Given the description of an element on the screen output the (x, y) to click on. 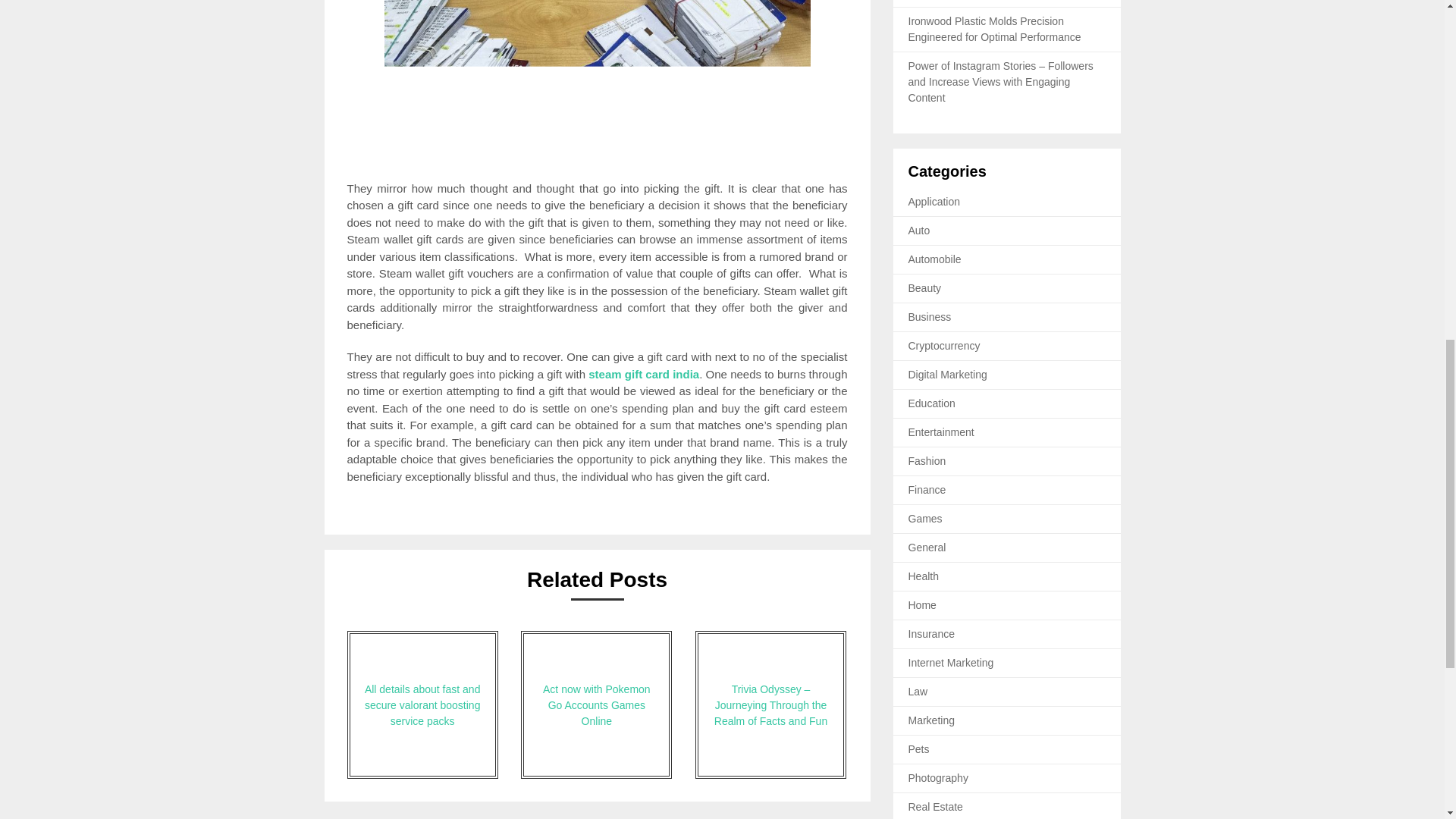
Fashion (927, 460)
Games (925, 518)
Health (923, 576)
Business (930, 316)
Entertainment (941, 431)
Act now with Pokemon Go Accounts Games Online (596, 704)
Beauty (925, 287)
Home (922, 604)
General (927, 547)
